Given the description of an element on the screen output the (x, y) to click on. 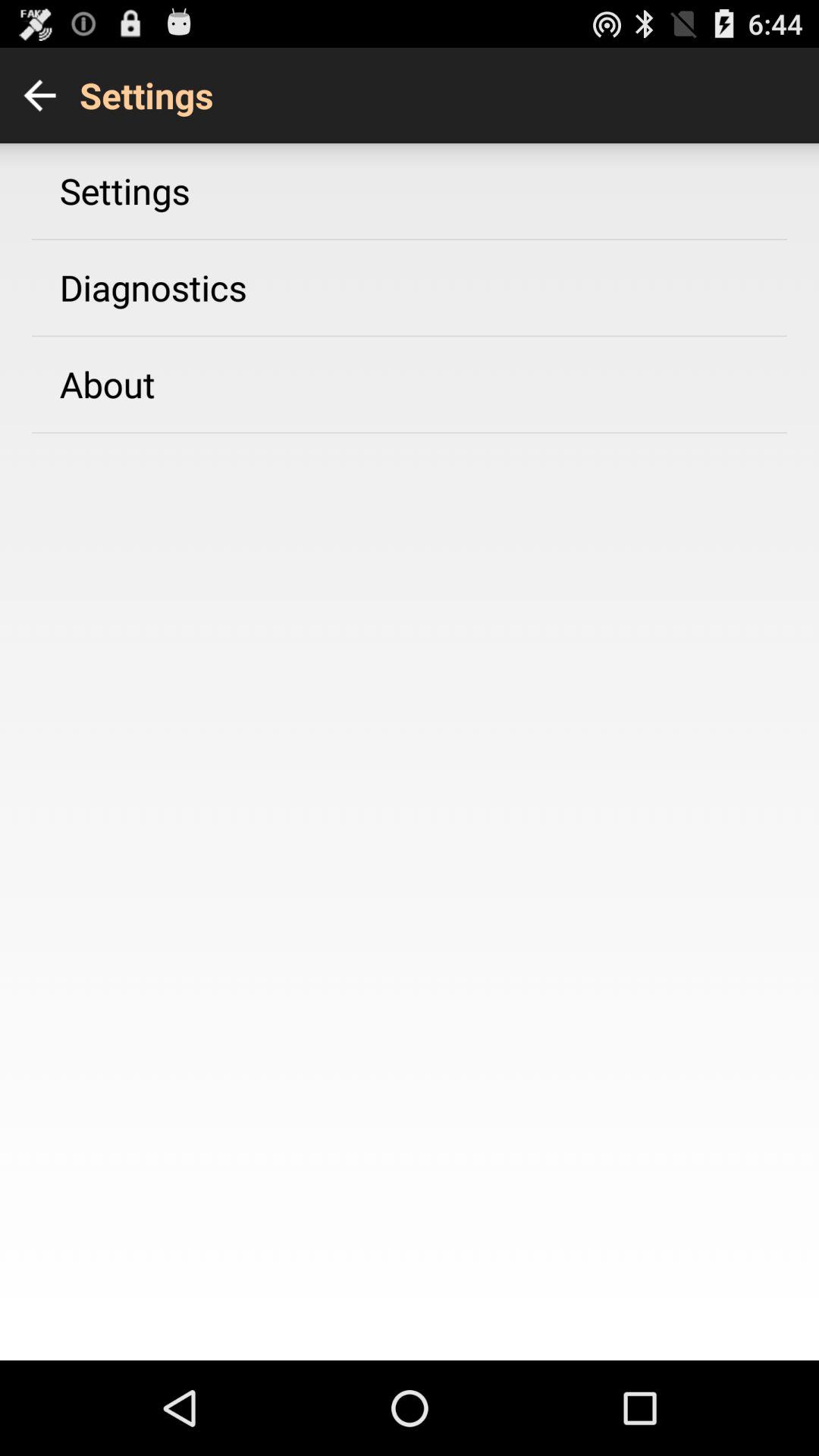
scroll until the about item (107, 384)
